Given the description of an element on the screen output the (x, y) to click on. 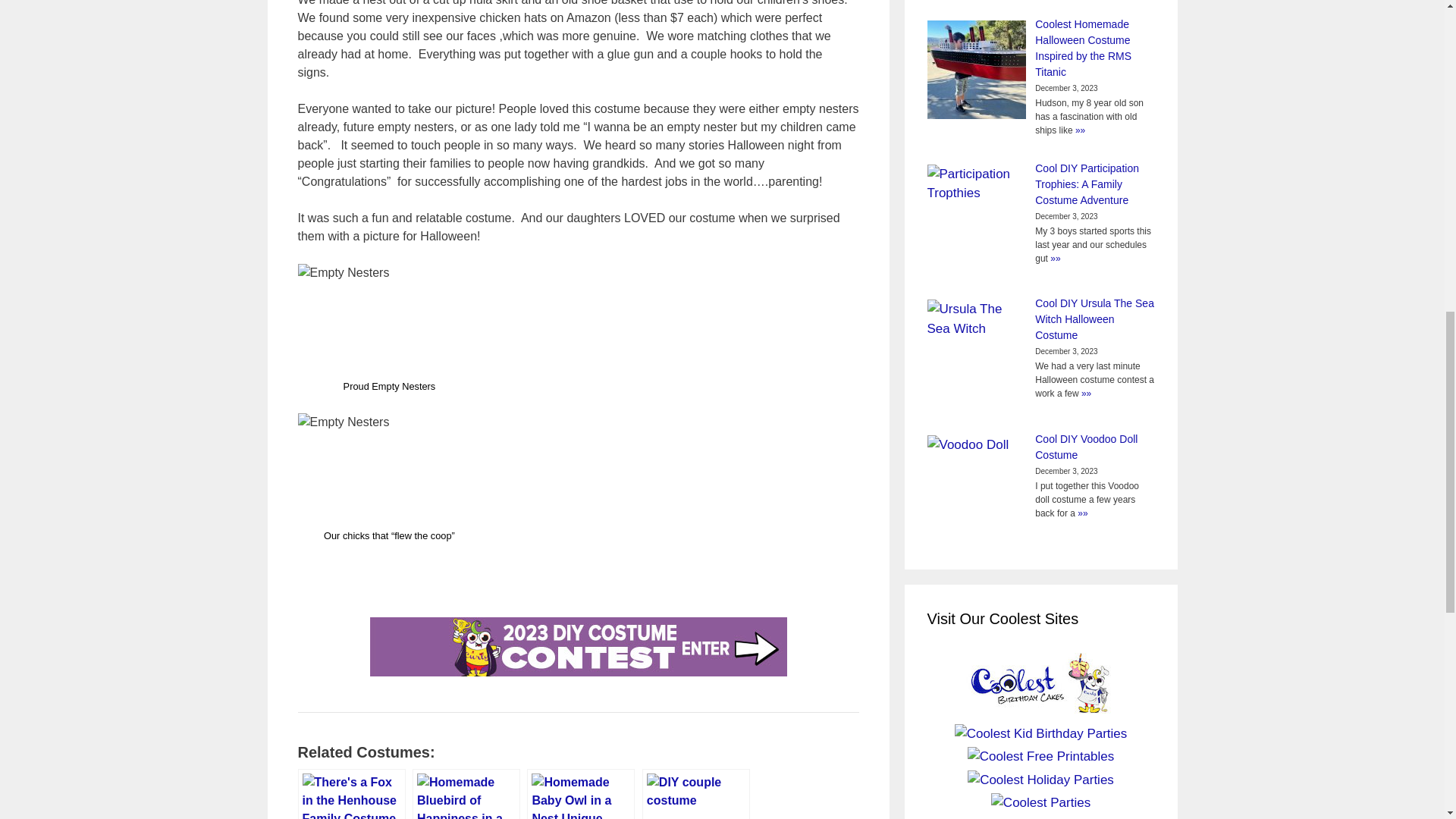
Coolest Bluebird of Happiness in a Nest Costume (465, 794)
The Cabin in the Woods DIY Couple Costume (695, 794)
